Given the description of an element on the screen output the (x, y) to click on. 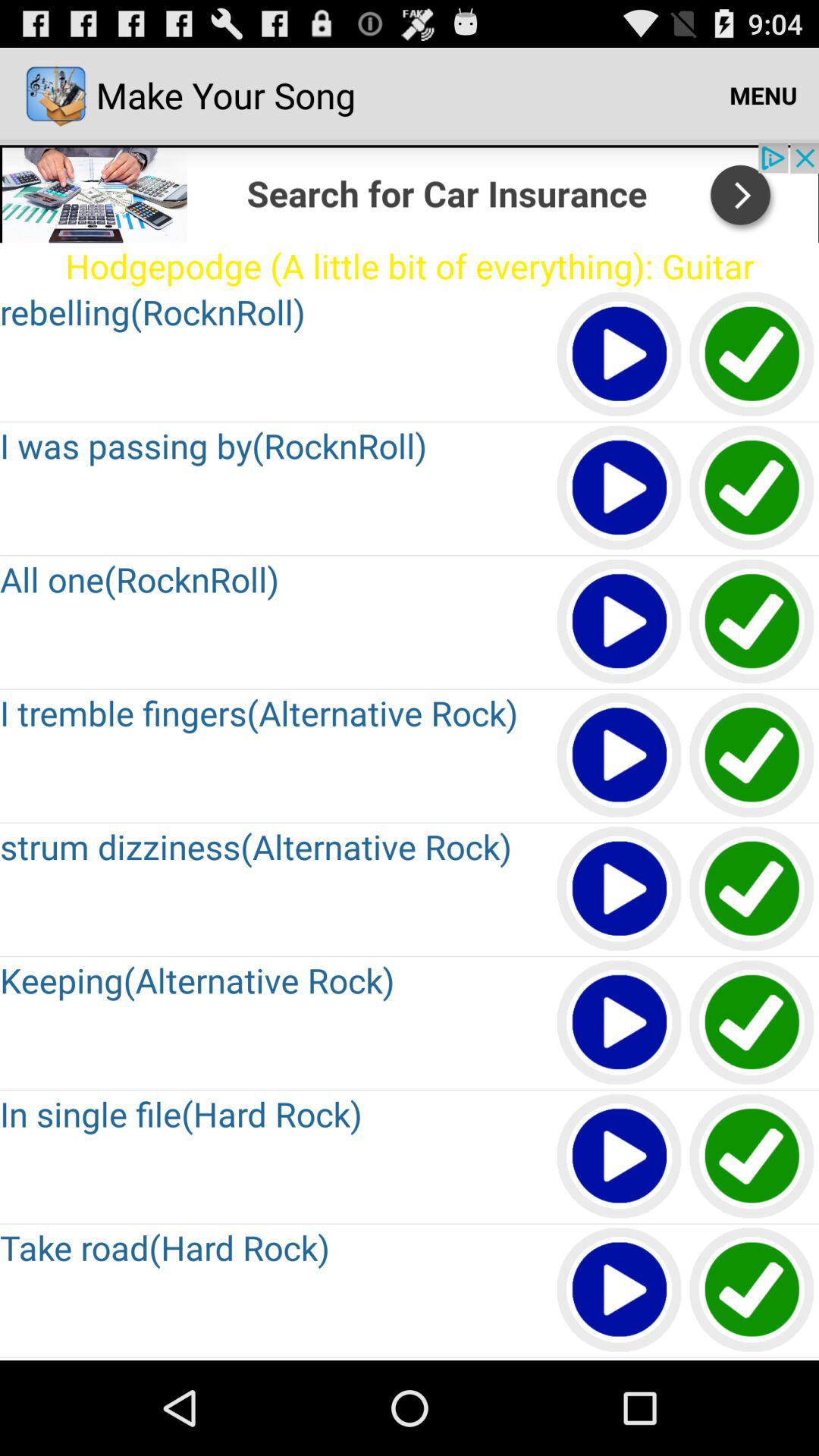
play the song (619, 1023)
